Given the description of an element on the screen output the (x, y) to click on. 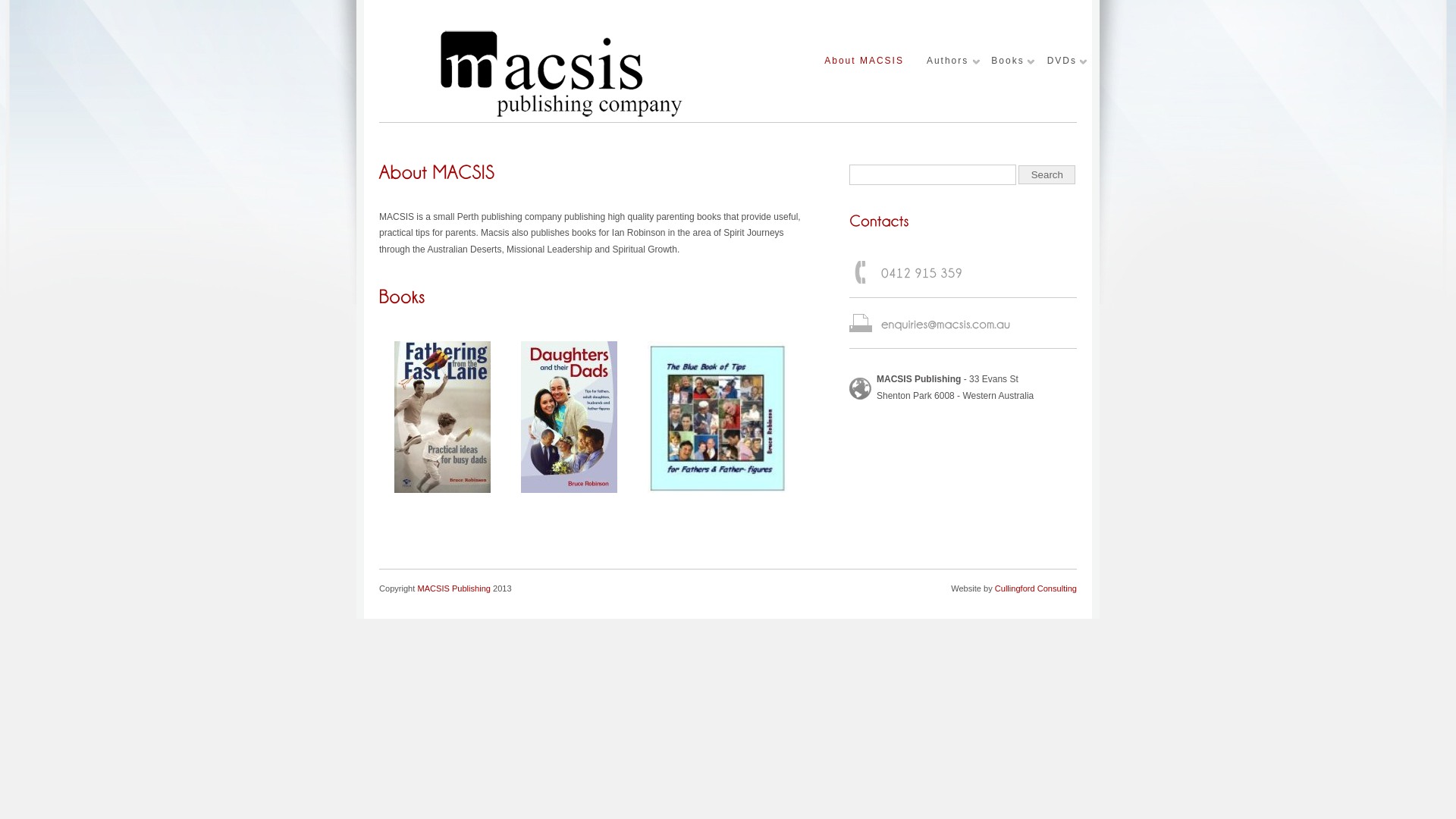
The Blue Book of Tips for Fathers and Father-Figures Element type: hover (717, 420)
Search Element type: text (1046, 174)
MACSIS Publishing Element type: hover (561, 113)
Fathering from the Fast Lane Element type: hover (442, 420)
About MACSIS Element type: text (863, 60)
MACSIS Publishing Element type: text (453, 588)
Cullingford Consulting Element type: text (1035, 588)
Daughters and their Dads Element type: hover (568, 420)
